Given the description of an element on the screen output the (x, y) to click on. 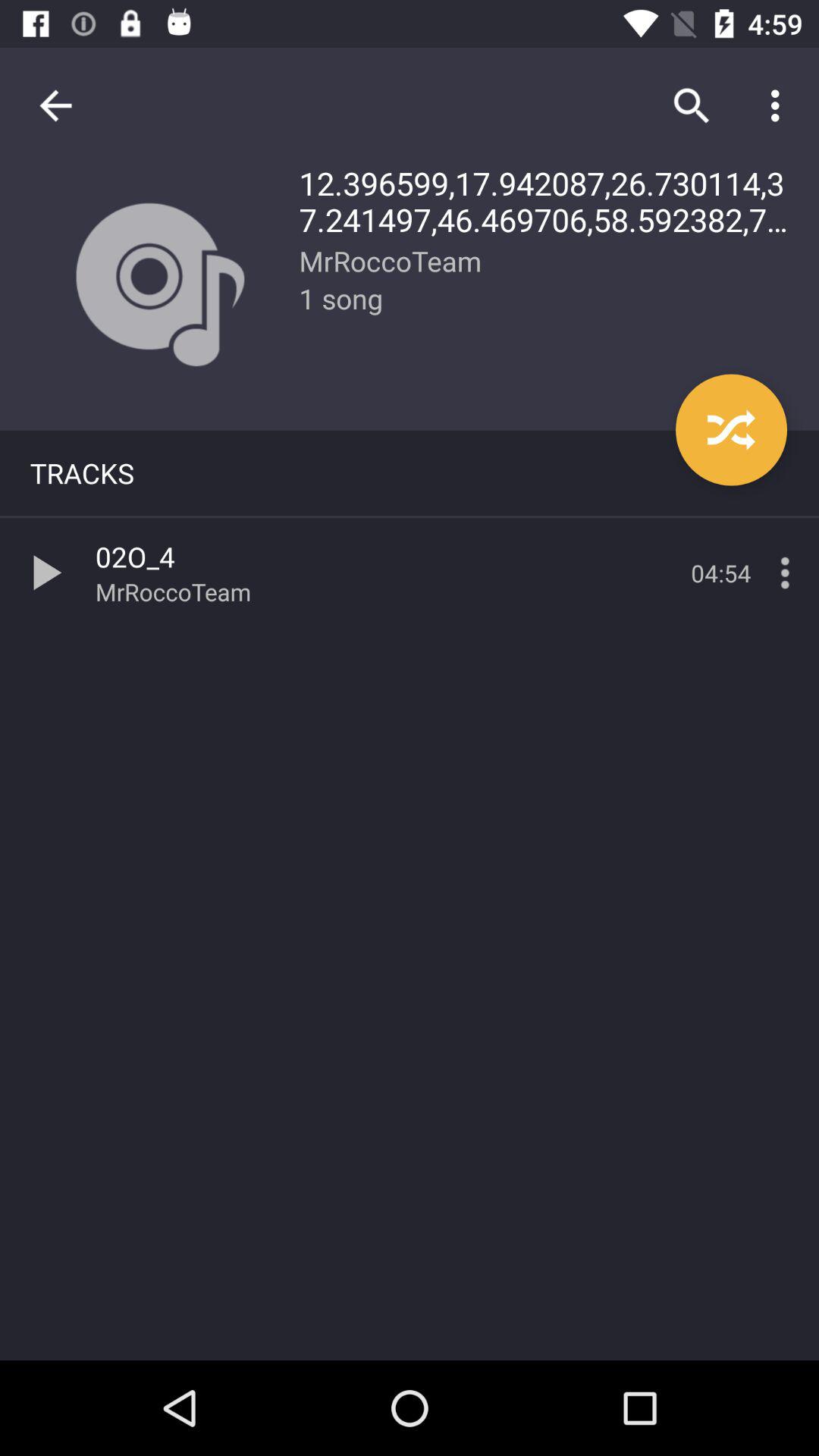
tap the item above the 12 396599 17 item (779, 105)
